Given the description of an element on the screen output the (x, y) to click on. 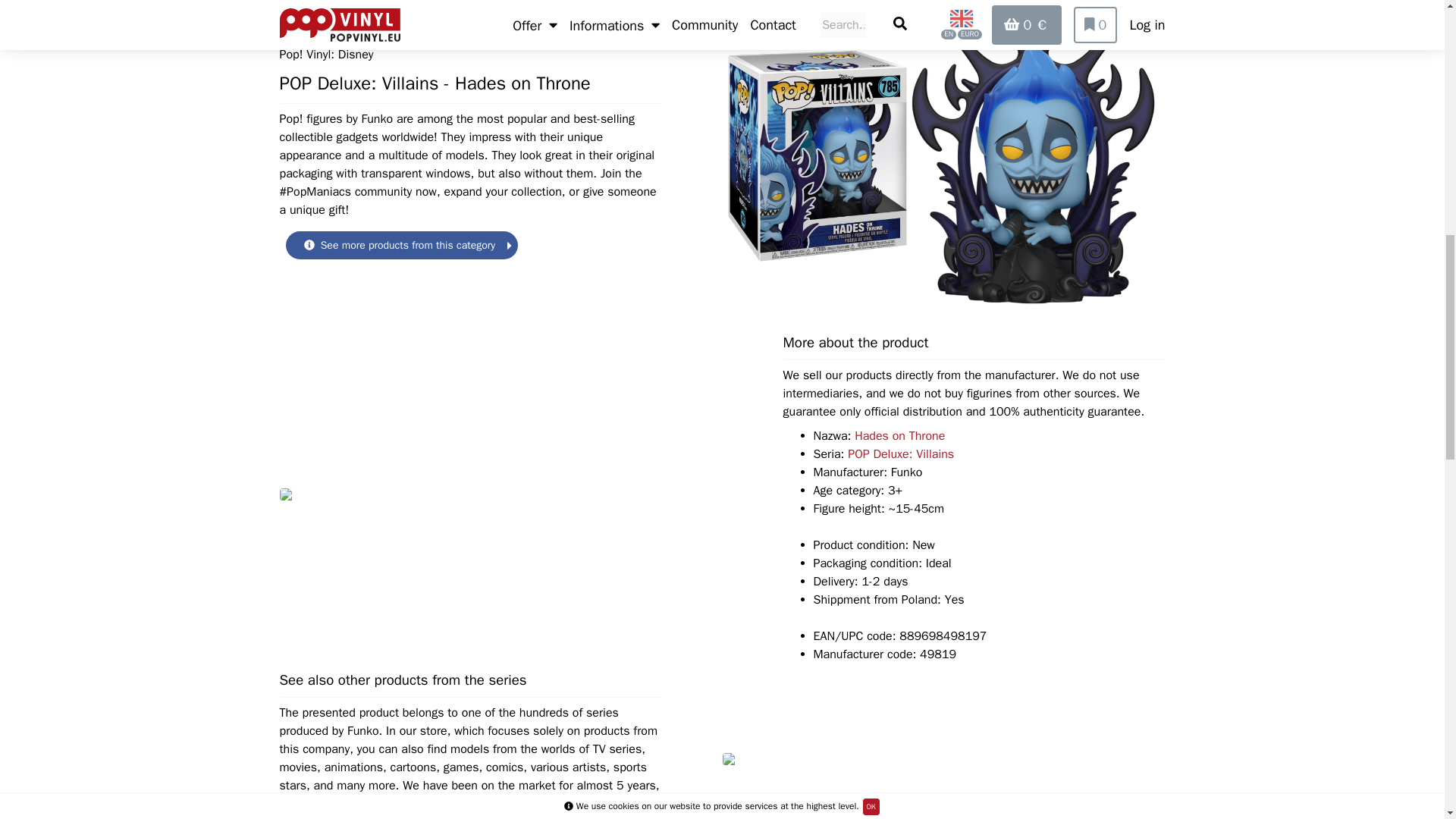
POP Deluxe: Villains (900, 453)
See more products from this category (401, 244)
